Given the description of an element on the screen output the (x, y) to click on. 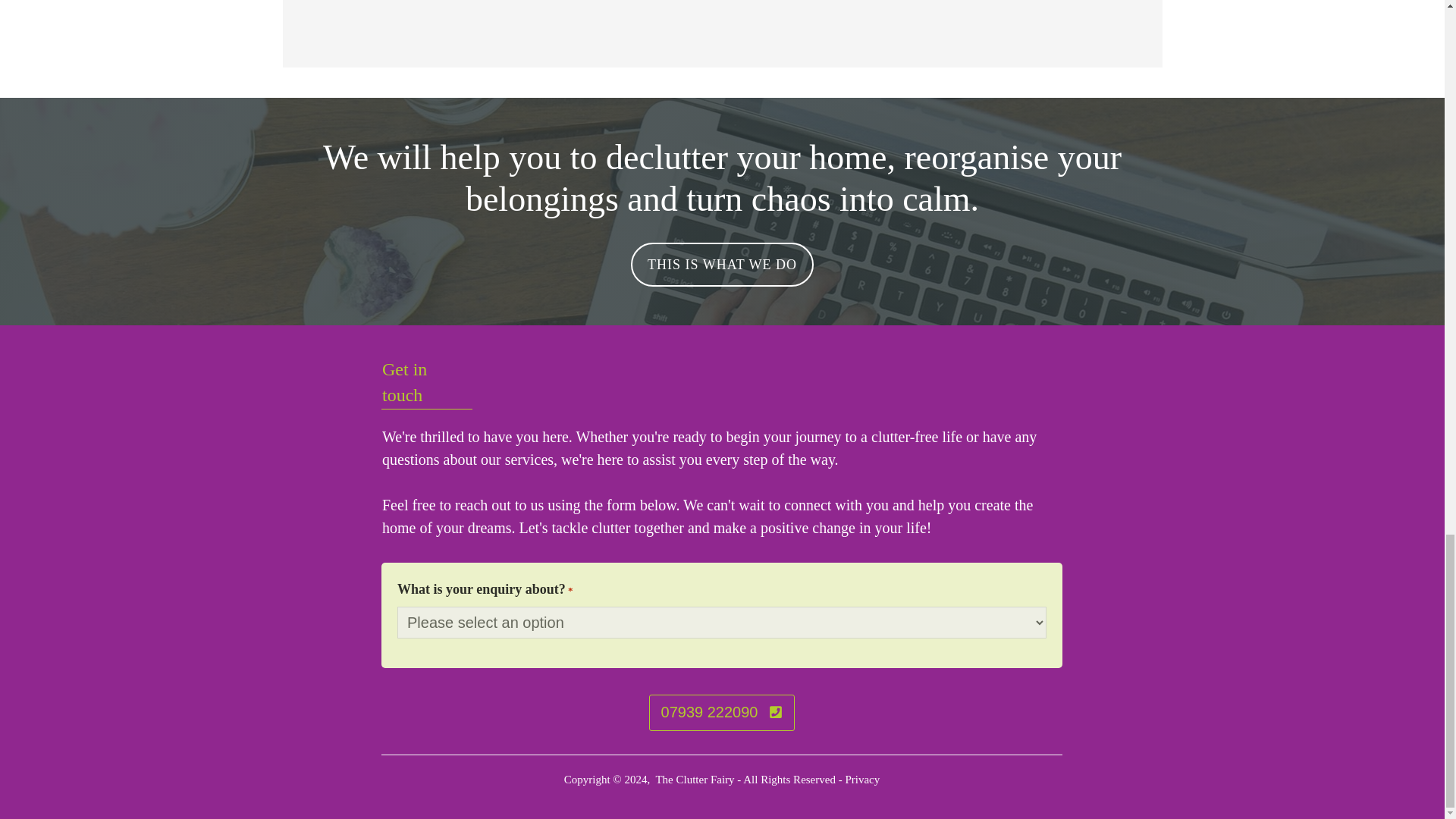
Privacy (861, 779)
THIS IS WHAT WE DO (721, 264)
07939 222090 (721, 712)
